Given the description of an element on the screen output the (x, y) to click on. 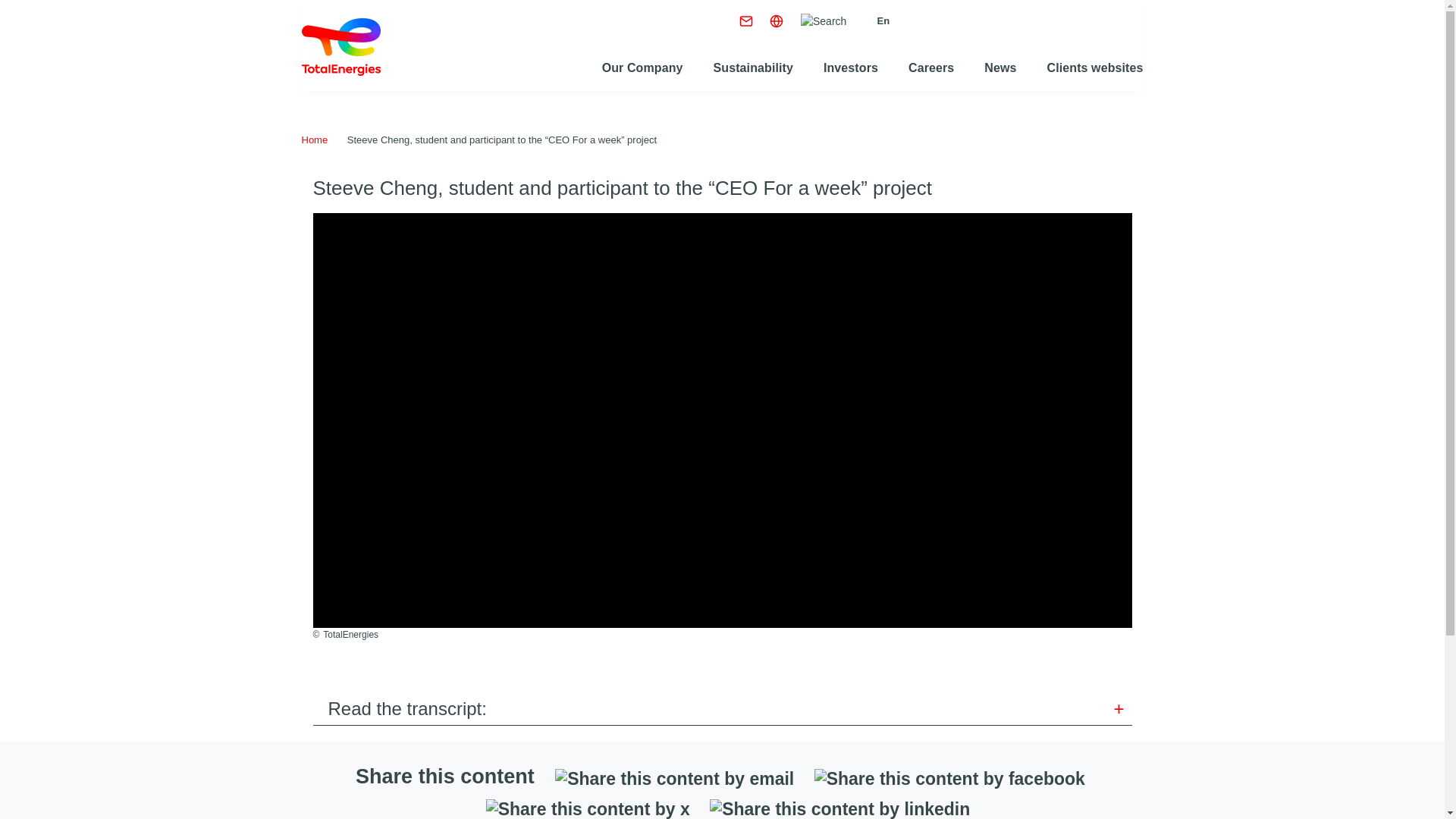
Our Company (642, 67)
Search (822, 21)
Contact (745, 19)
Our presence in the world (776, 19)
